Given the description of an element on the screen output the (x, y) to click on. 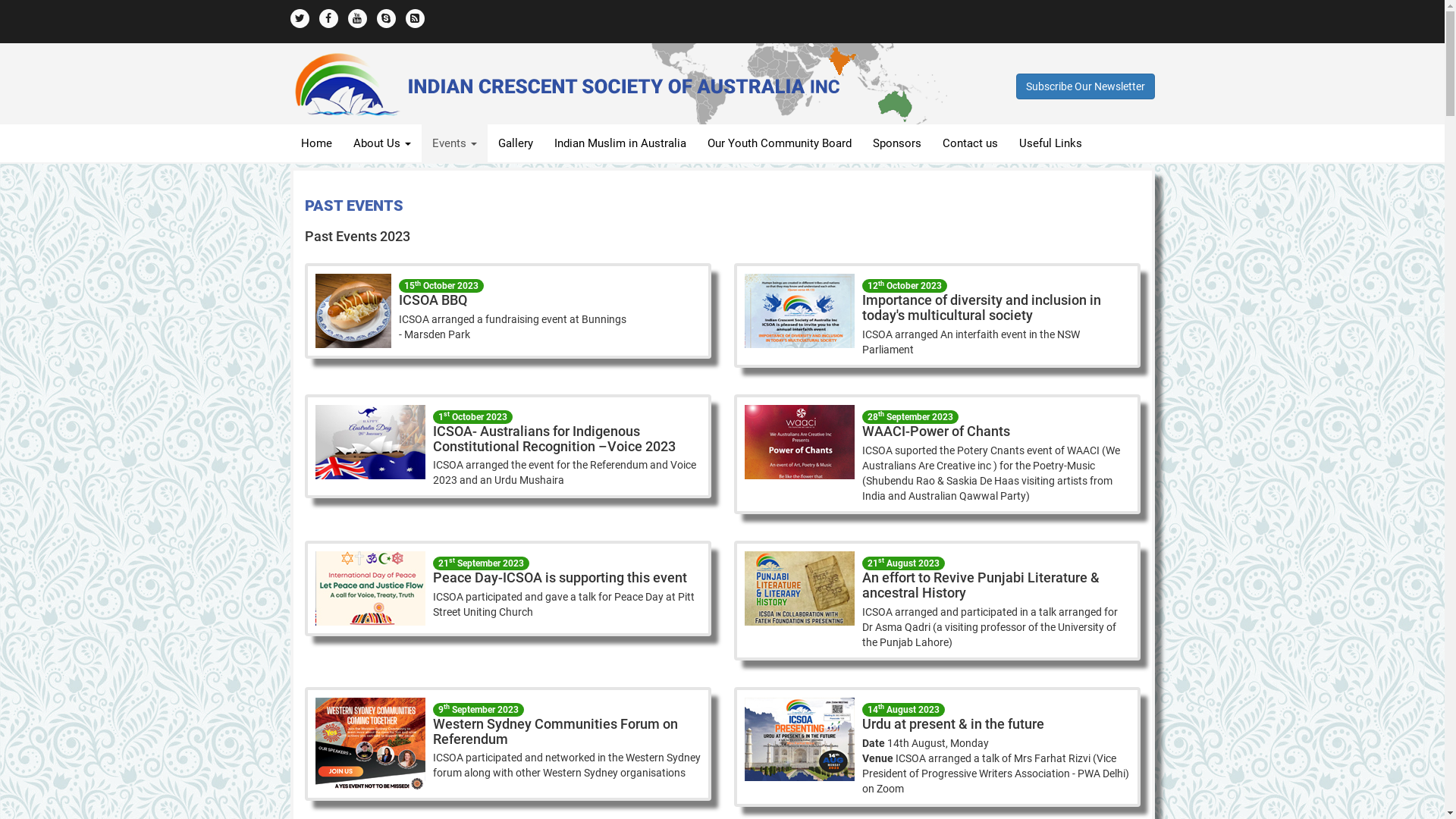
Gallery Element type: text (514, 143)
Sponsors Element type: text (896, 143)
Home
(current) Element type: text (315, 143)
Contact us Element type: text (969, 143)
Indian Muslim in Australia Element type: text (619, 143)
Useful Links Element type: text (1050, 143)
Our Youth Community Board Element type: text (778, 143)
Subscribe Our Newsletter Element type: text (1085, 86)
Events Element type: text (454, 143)
About Us Element type: text (381, 143)
